Given the description of an element on the screen output the (x, y) to click on. 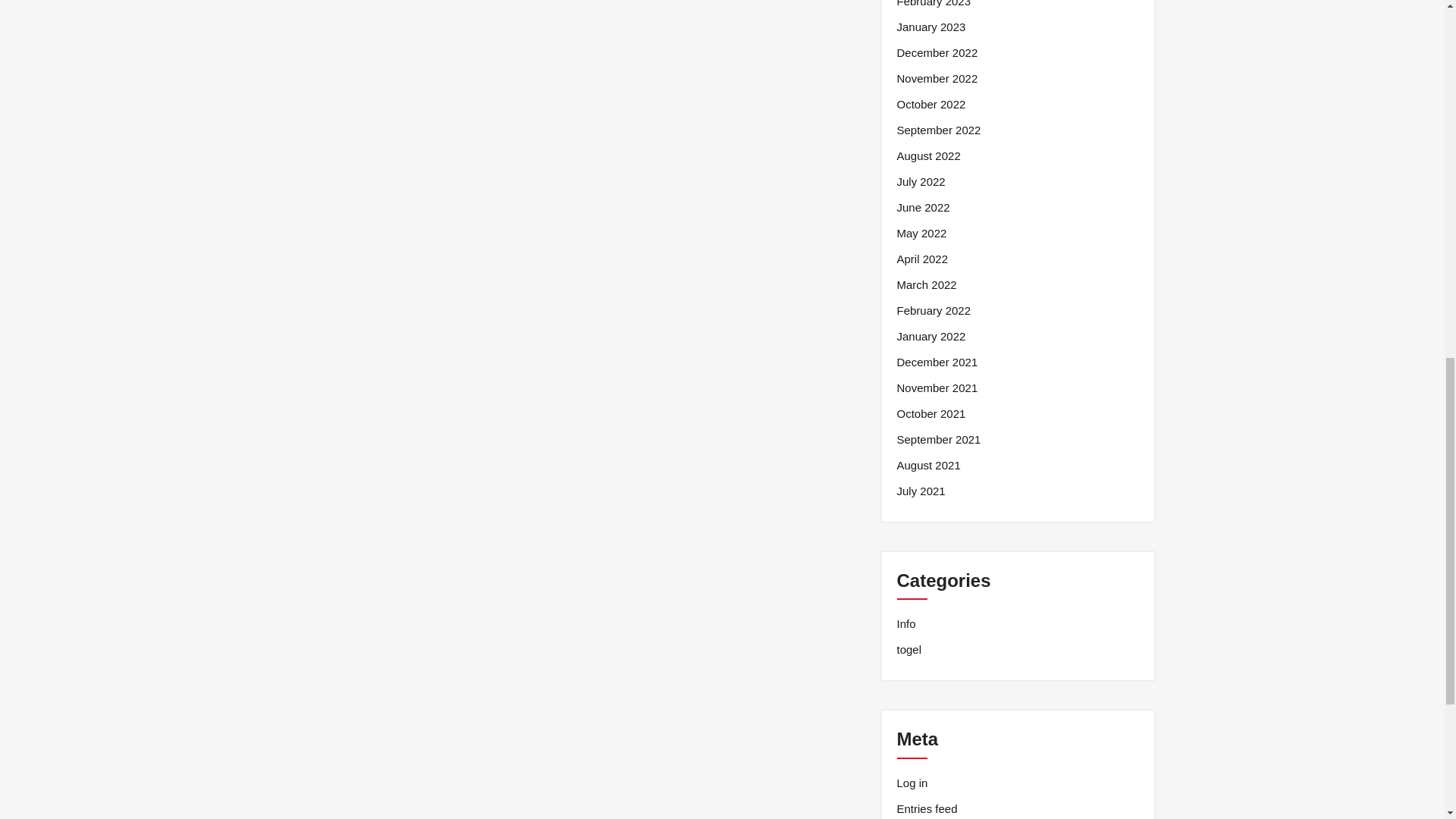
November 2022 (936, 78)
January 2023 (930, 27)
August 2022 (927, 156)
October 2022 (930, 104)
February 2023 (933, 5)
July 2022 (920, 181)
May 2022 (921, 233)
December 2022 (936, 53)
April 2022 (921, 259)
June 2022 (922, 208)
September 2022 (937, 130)
